Given the description of an element on the screen output the (x, y) to click on. 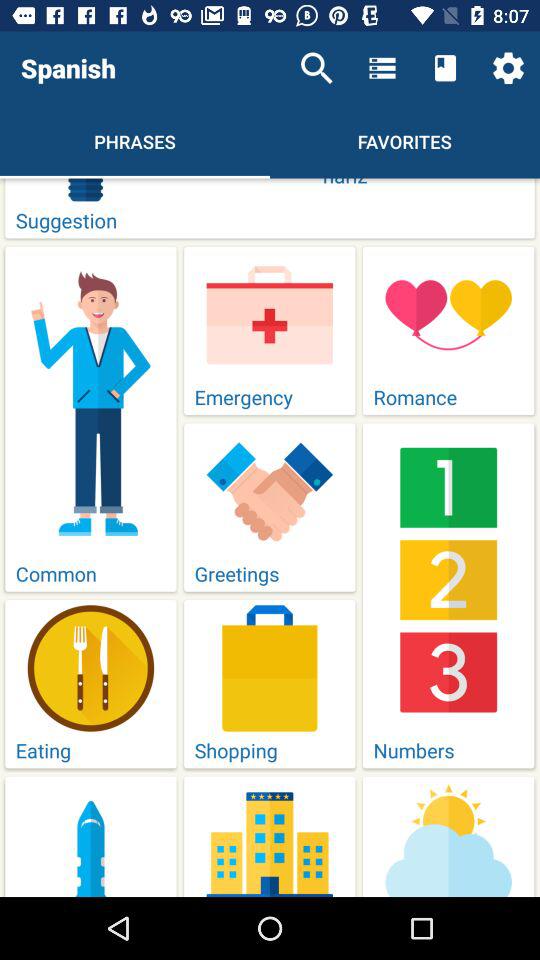
press icon next to spanish icon (316, 67)
